Given the description of an element on the screen output the (x, y) to click on. 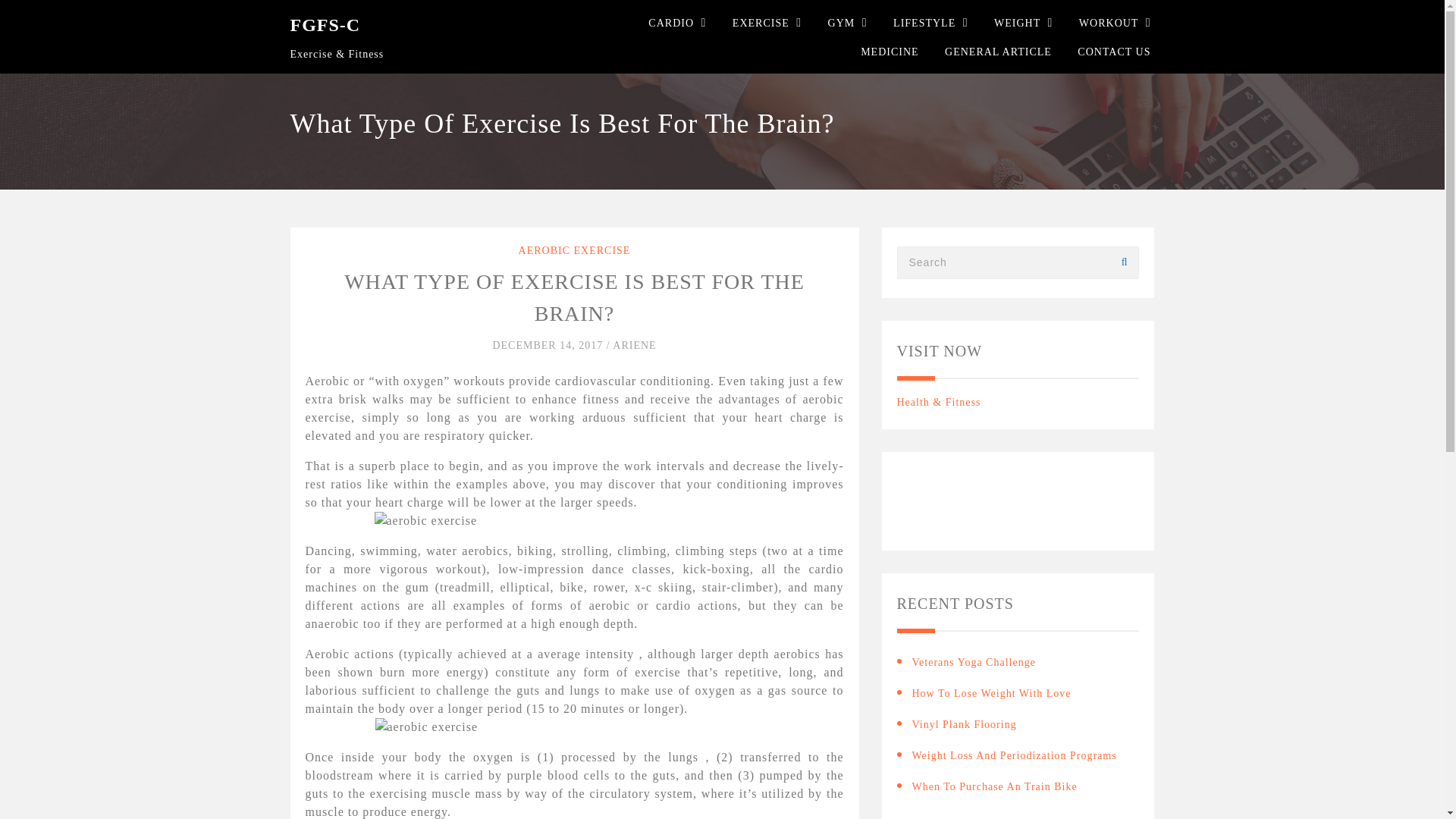
DECEMBER 14, 2017 (548, 345)
AEROBIC EXERCISE (574, 250)
Posts by Ariene (634, 345)
MEDICINE (889, 51)
FGFS-C (324, 25)
WEIGHT (1017, 22)
CONTACT US (1113, 51)
CARDIO (670, 22)
LIFESTYLE (924, 22)
GYM (842, 22)
WORKOUT (1108, 22)
WHAT TYPE OF EXERCISE IS BEST FOR THE BRAIN? (574, 297)
EXERCISE (760, 22)
GENERAL ARTICLE (997, 51)
